Given the description of an element on the screen output the (x, y) to click on. 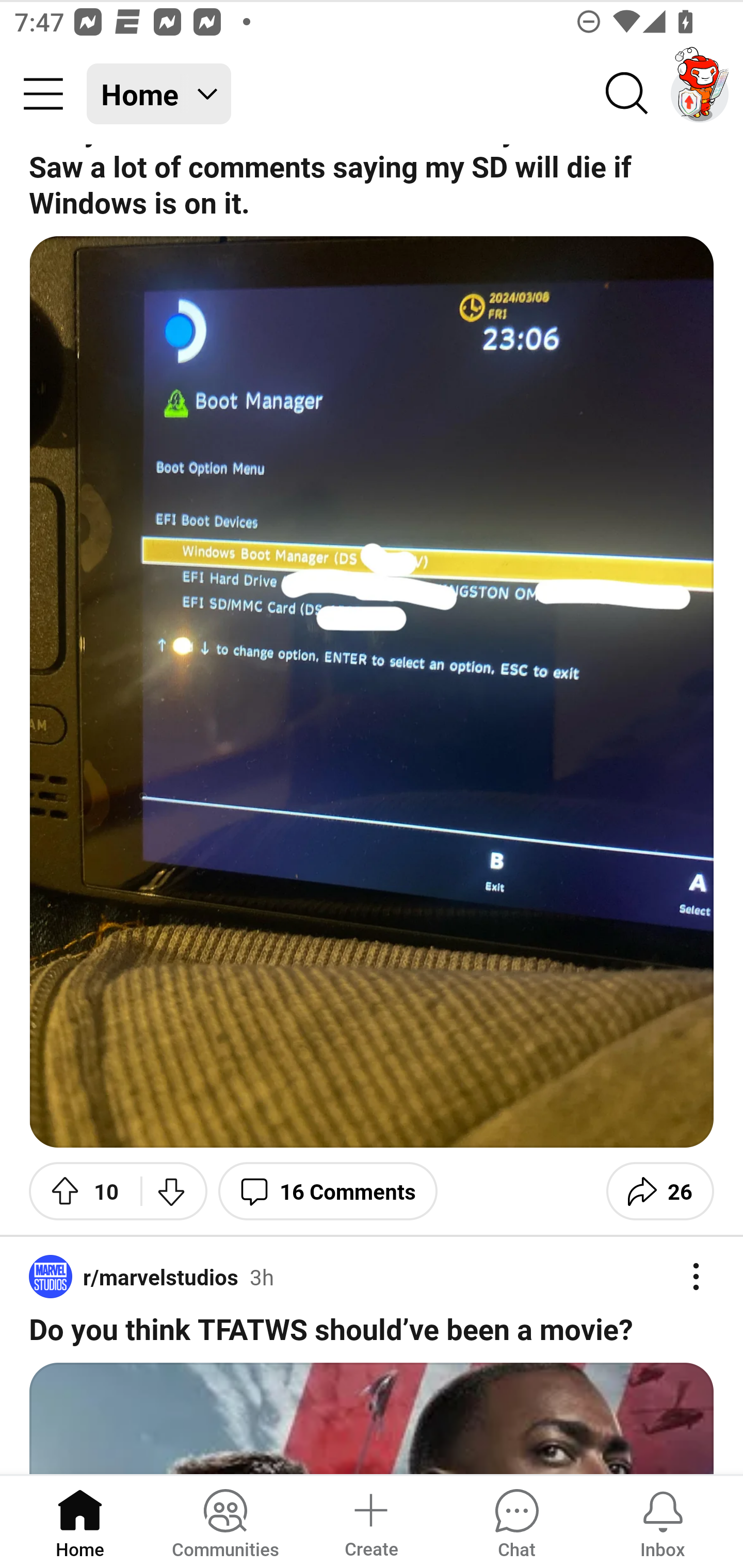
Community menu (43, 93)
Home Home feed (158, 93)
Search (626, 93)
TestAppium002 account (699, 93)
Home (80, 1520)
Communities (225, 1520)
Create a post Create (370, 1520)
Chat (516, 1520)
Inbox (662, 1520)
